Given the description of an element on the screen output the (x, y) to click on. 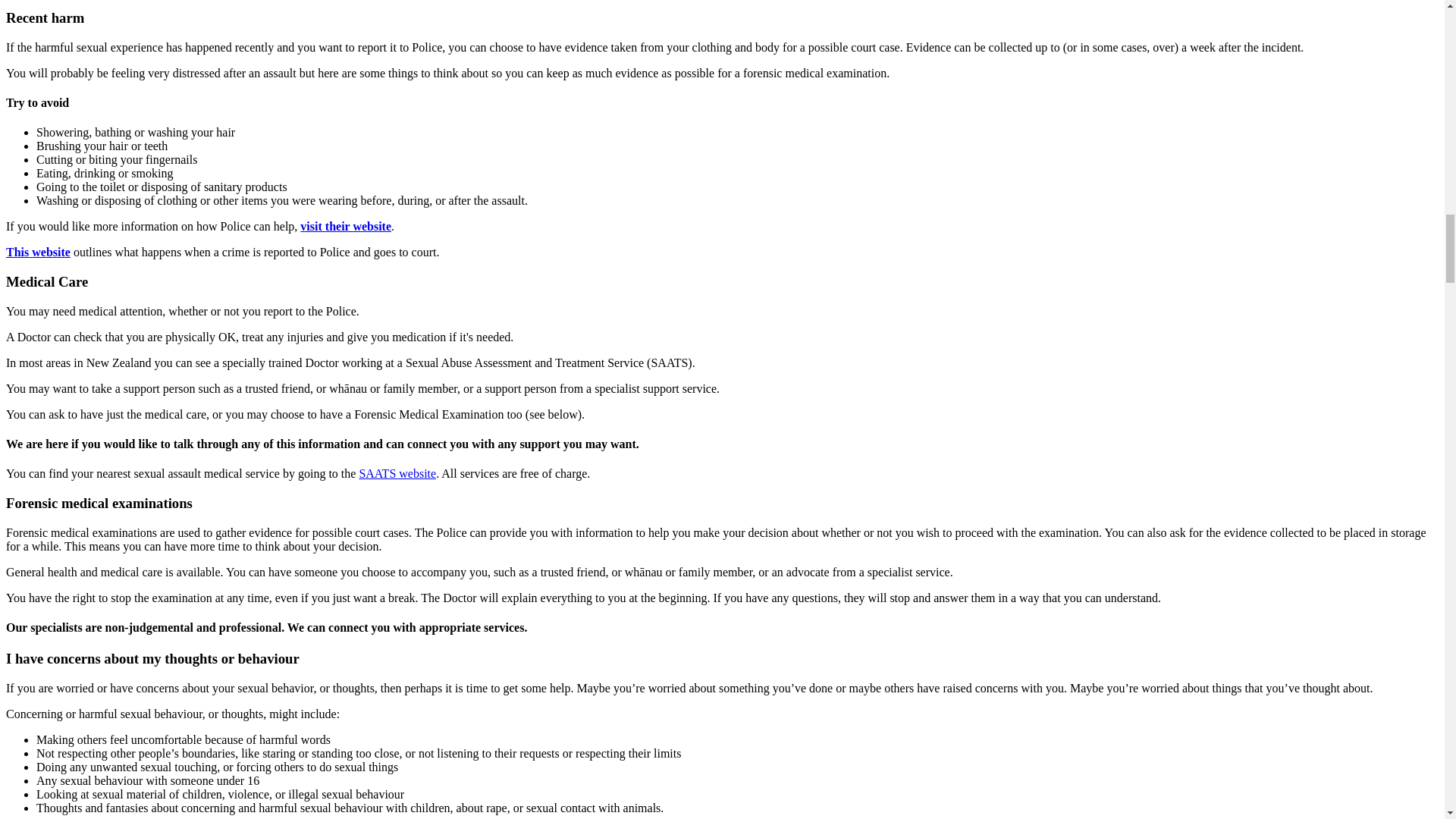
This website (37, 251)
New Zealand Police Sexual Assault (345, 226)
Victims Information (37, 251)
visit their website (345, 226)
SAATS website (396, 472)
